Given the description of an element on the screen output the (x, y) to click on. 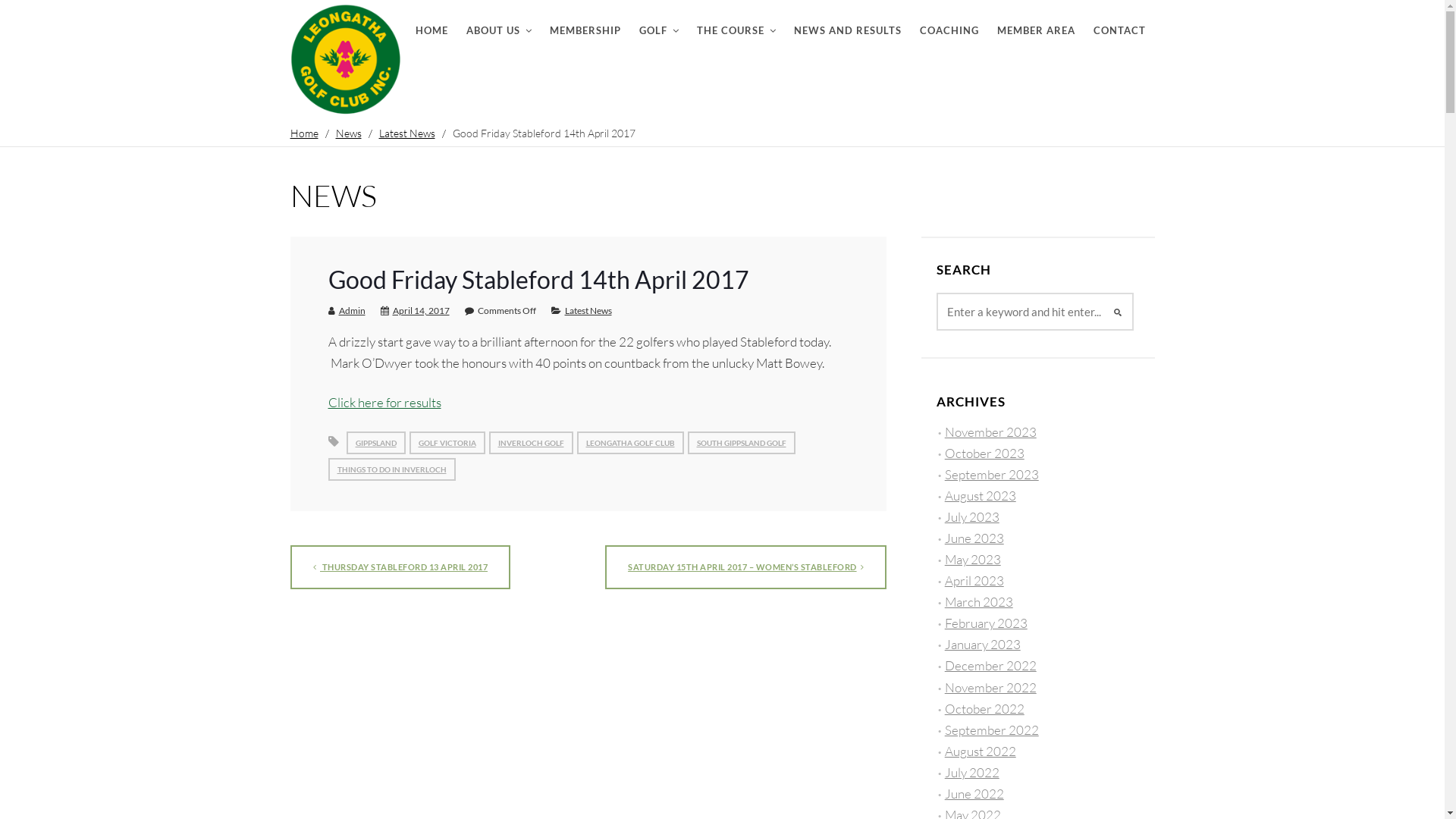
October 2022 Element type: text (984, 708)
April 2023 Element type: text (974, 580)
GOLF VICTORIA Element type: text (447, 442)
MEMBER AREA Element type: text (1035, 22)
GIPPSLAND Element type: text (374, 442)
May 2023 Element type: text (972, 559)
November 2023 Element type: text (990, 431)
SOUTH GIPPSLAND GOLF Element type: text (740, 442)
Click here for results Element type: text (383, 402)
THURSDAY STABLEFORD 13 APRIL 2017 Element type: text (399, 567)
Home Element type: text (303, 133)
November 2022 Element type: text (990, 687)
July 2022 Element type: text (971, 772)
CONTACT Element type: text (1119, 22)
June 2022 Element type: text (974, 793)
July 2023 Element type: text (971, 516)
THE COURSE Element type: text (735, 22)
December 2022 Element type: text (990, 665)
Admin Element type: text (351, 310)
LEONGATHA GOLF CLUB Element type: text (629, 442)
Search Element type: text (21, 8)
Leongatha Golf Club Element type: hover (346, 60)
ABOUT US Element type: text (497, 22)
September 2023 Element type: text (991, 474)
HOME Element type: text (431, 22)
News Element type: text (347, 133)
September 2022 Element type: text (991, 729)
October 2023 Element type: text (984, 453)
February 2023 Element type: text (985, 622)
COACHING Element type: text (948, 22)
INVERLOCH GOLF Element type: text (530, 442)
THINGS TO DO IN INVERLOCH Element type: text (391, 469)
August 2022 Element type: text (980, 751)
April 14, 2017 Element type: text (420, 310)
Latest News Element type: text (407, 133)
NEWS AND RESULTS Element type: text (847, 22)
GOLF Element type: text (658, 22)
August 2023 Element type: text (980, 495)
March 2023 Element type: text (978, 601)
MEMBERSHIP Element type: text (584, 22)
Latest News Element type: text (587, 310)
June 2023 Element type: text (974, 538)
January 2023 Element type: text (982, 644)
